Given the description of an element on the screen output the (x, y) to click on. 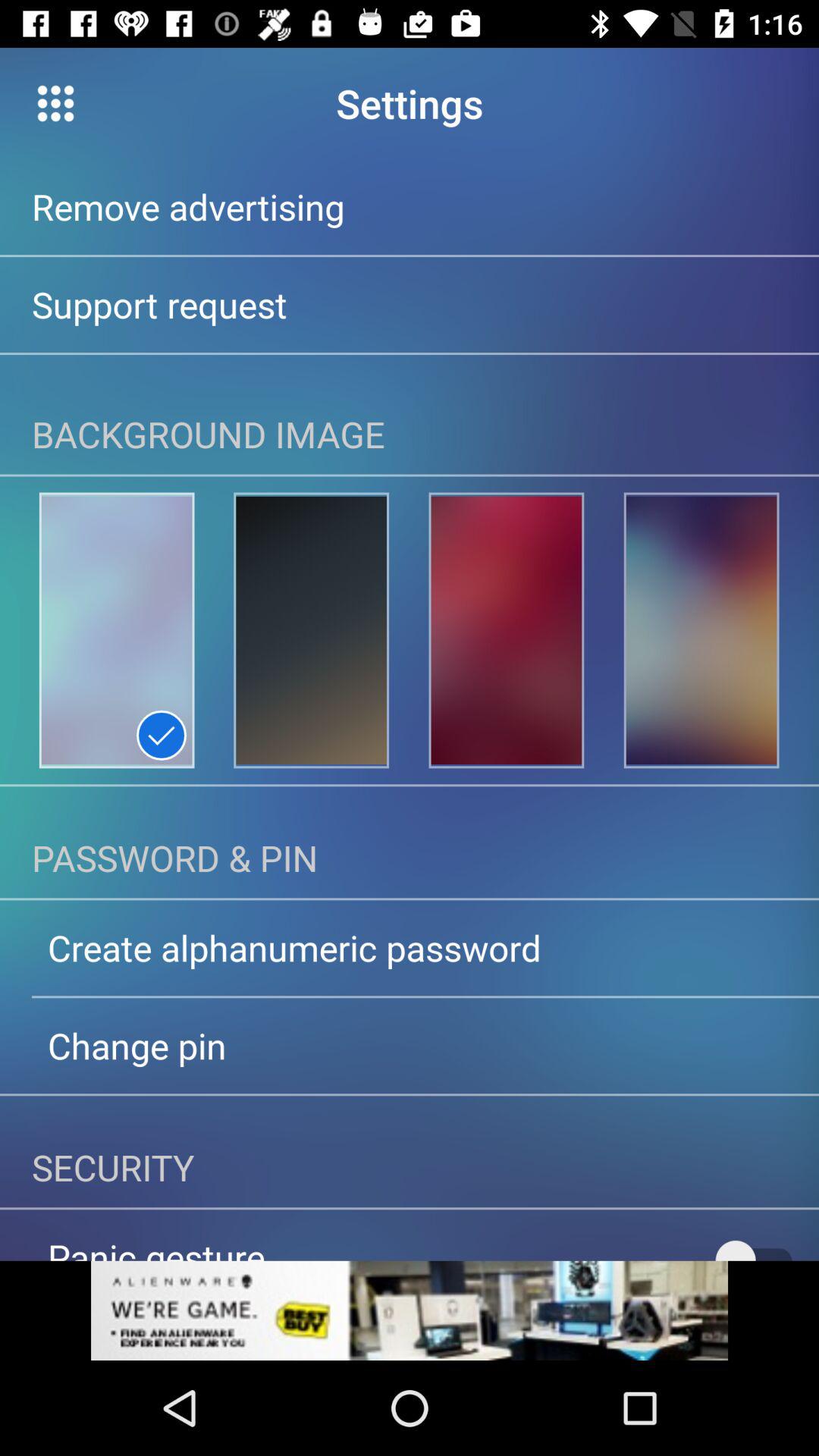
pale blue and purple background option (116, 630)
